Given the description of an element on the screen output the (x, y) to click on. 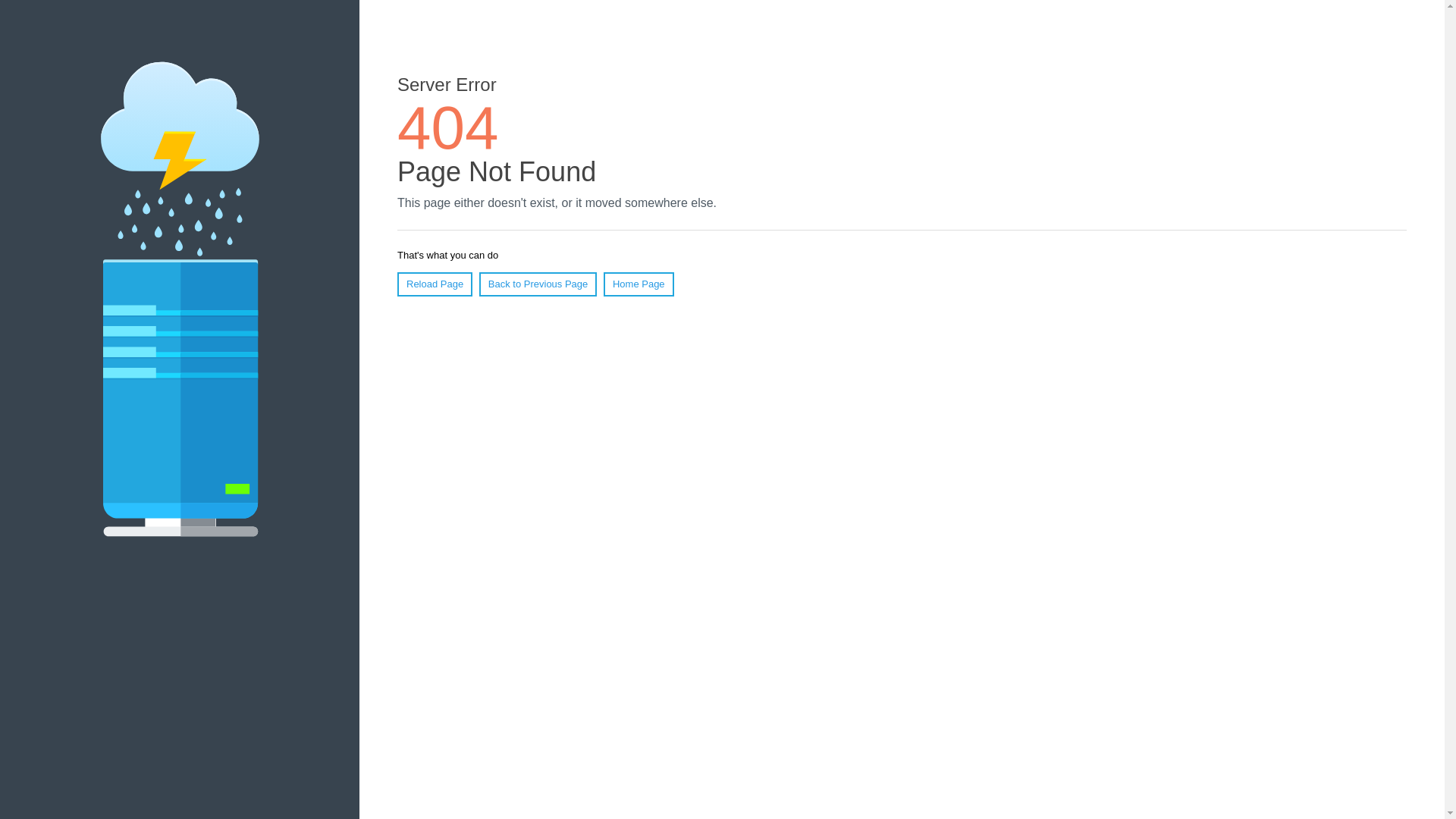
Home Page Element type: text (638, 284)
Reload Page Element type: text (434, 284)
Back to Previous Page Element type: text (538, 284)
